Given the description of an element on the screen output the (x, y) to click on. 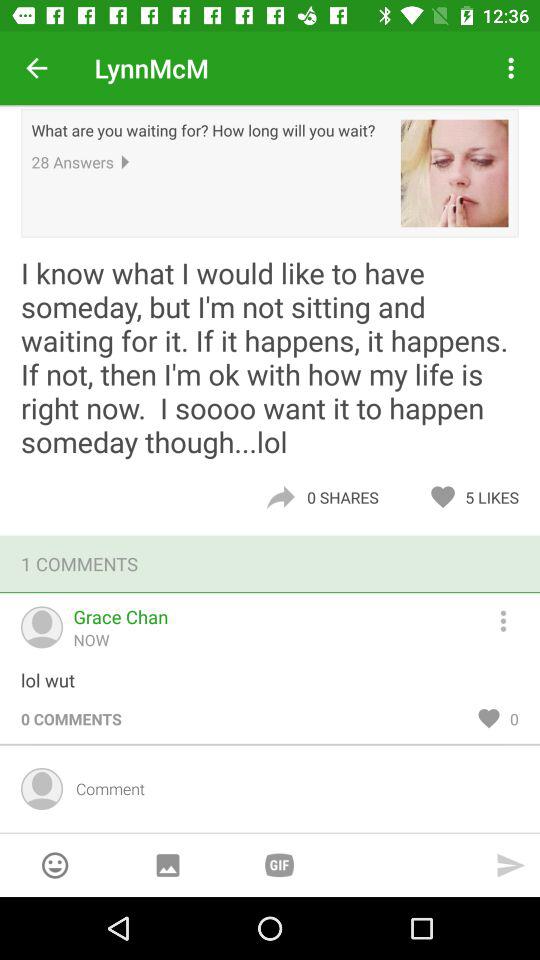
open the icon next to the grace chan icon (512, 618)
